Given the description of an element on the screen output the (x, y) to click on. 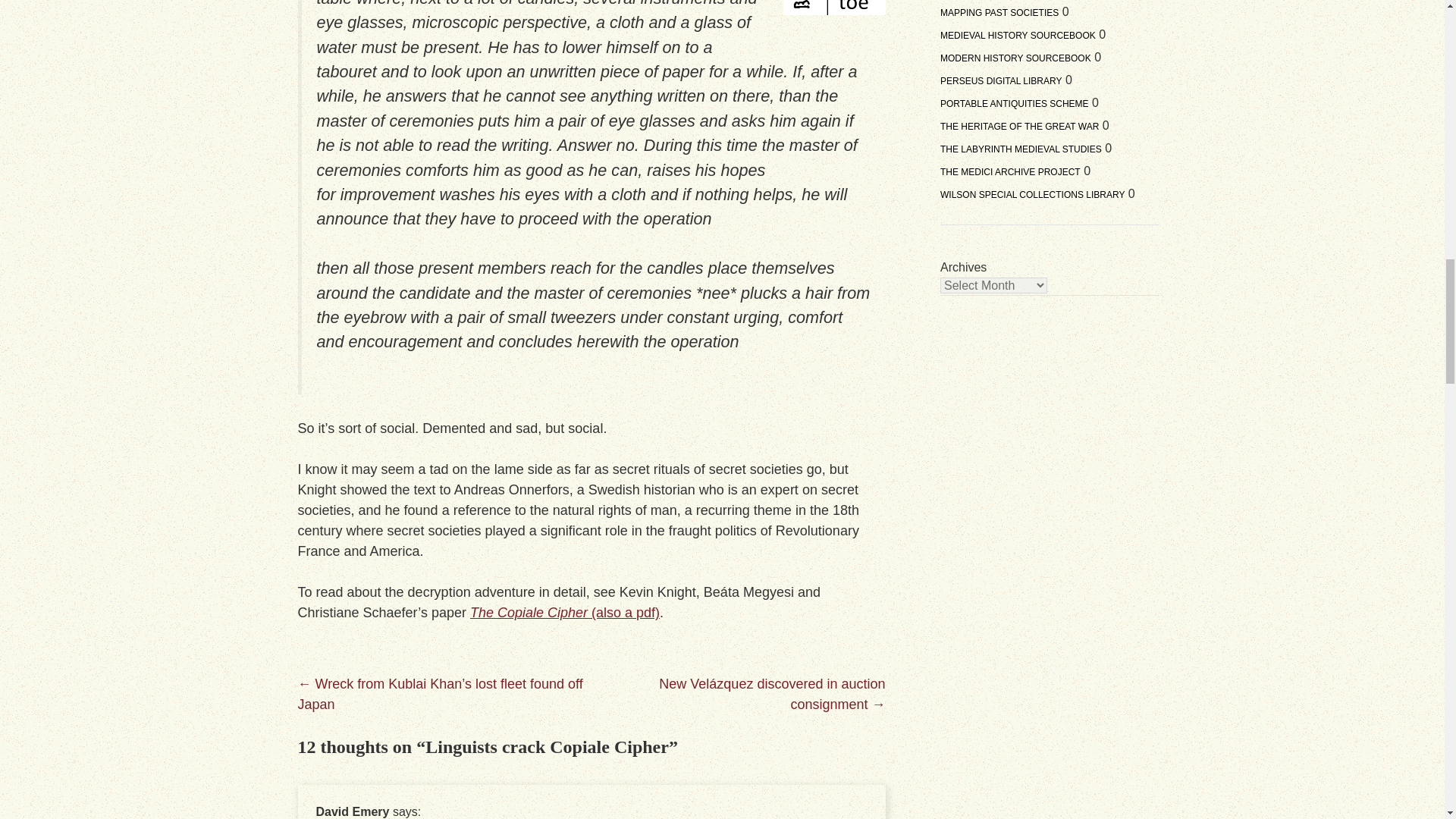
Large character transcription key (834, 7)
